Given the description of an element on the screen output the (x, y) to click on. 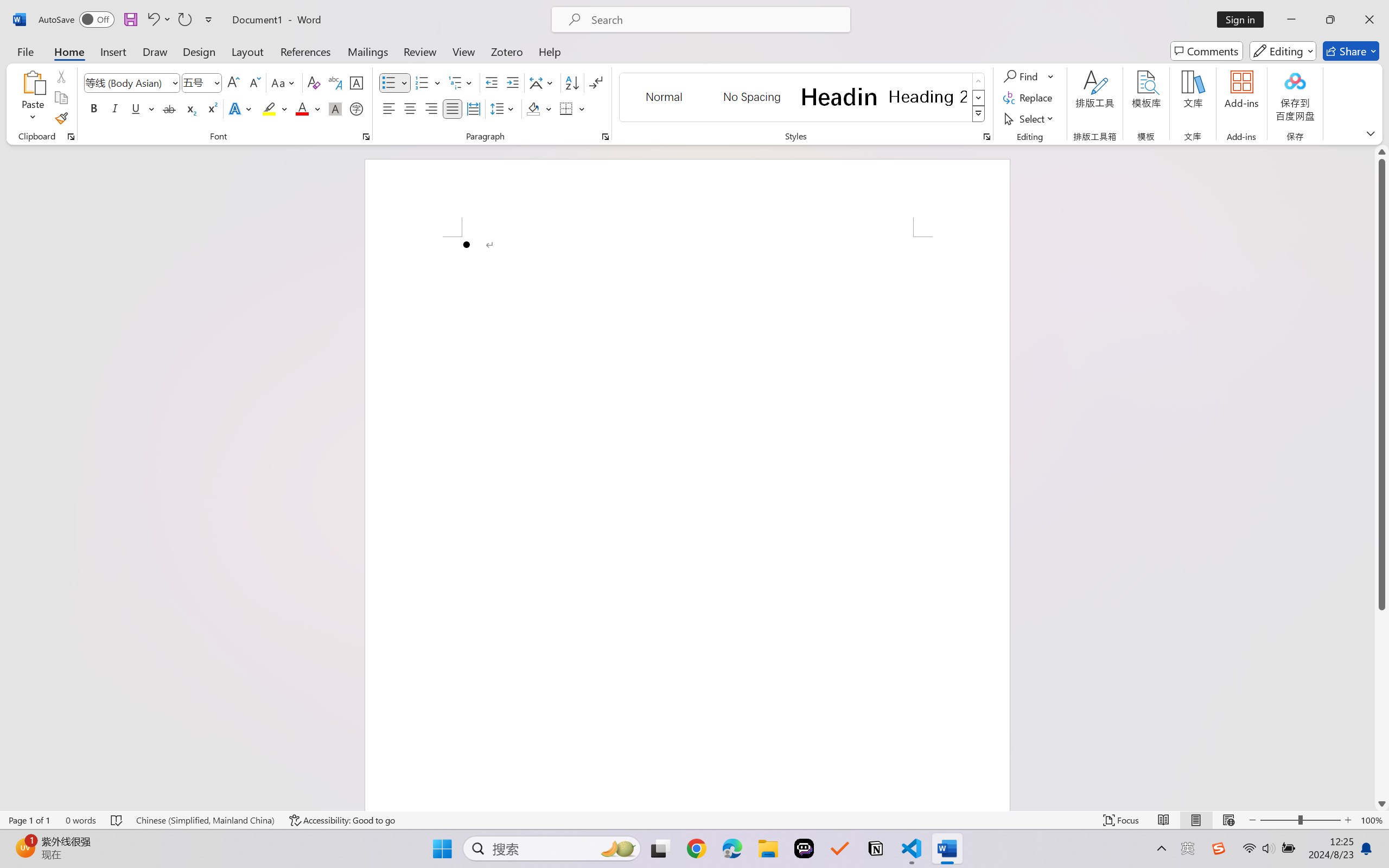
Undo Bullet Default (158, 19)
